Given the description of an element on the screen output the (x, y) to click on. 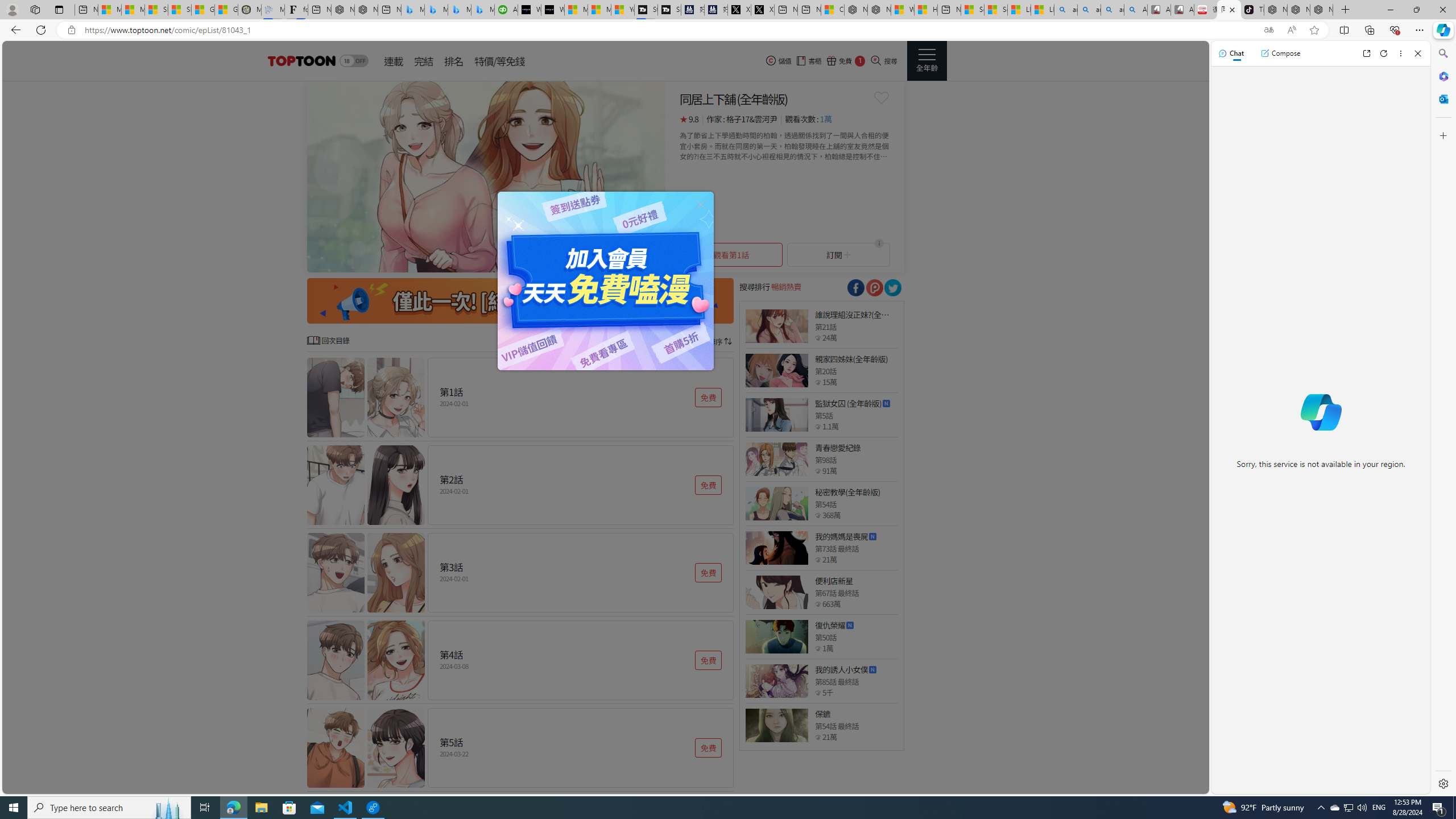
Class: side_menu_btn actionRightMenuBtn (926, 60)
header (300, 60)
